Given the description of an element on the screen output the (x, y) to click on. 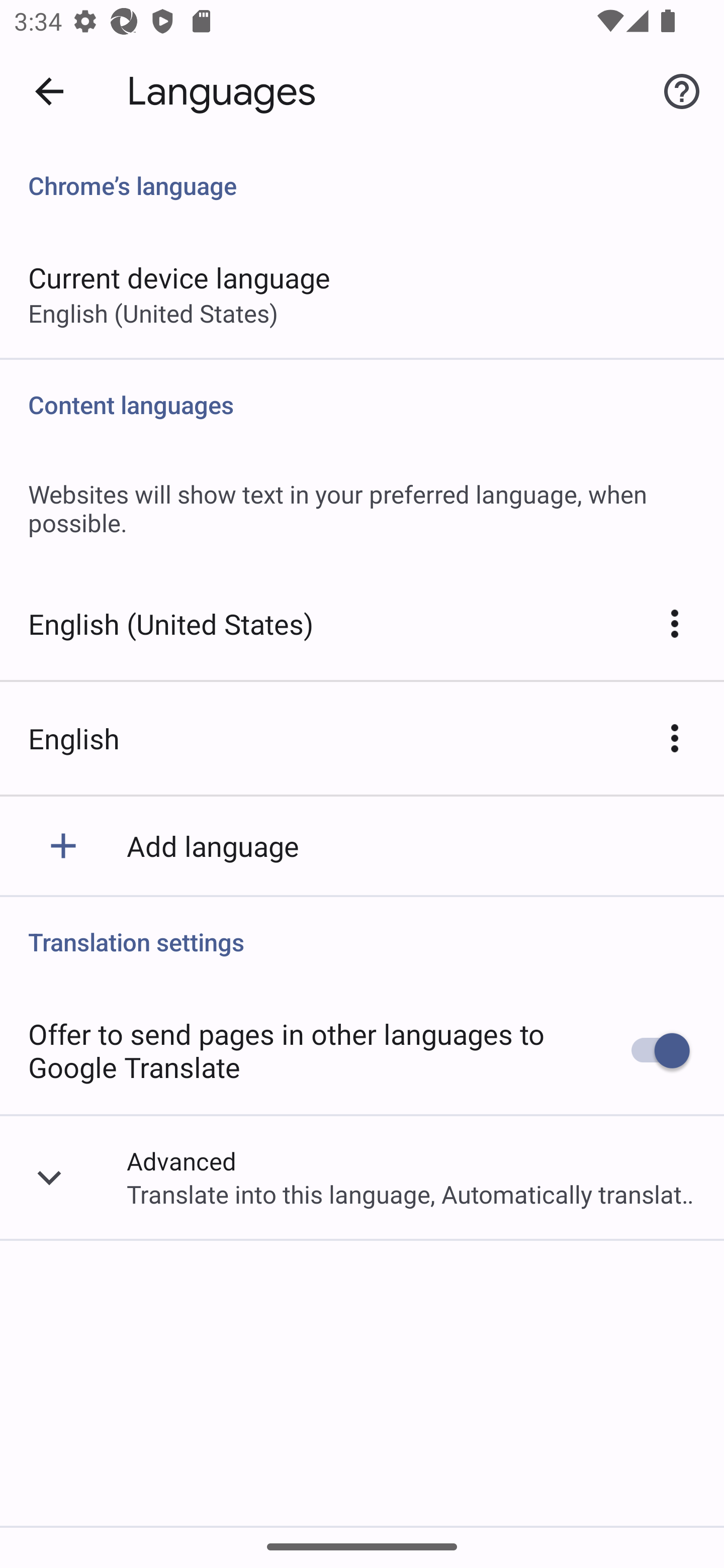
Navigate up (49, 91)
Help & feedback (681, 90)
Current device language English (United States) (362, 293)
English (United States) Options (674, 623)
English Options (674, 738)
Add language (362, 845)
